Given the description of an element on the screen output the (x, y) to click on. 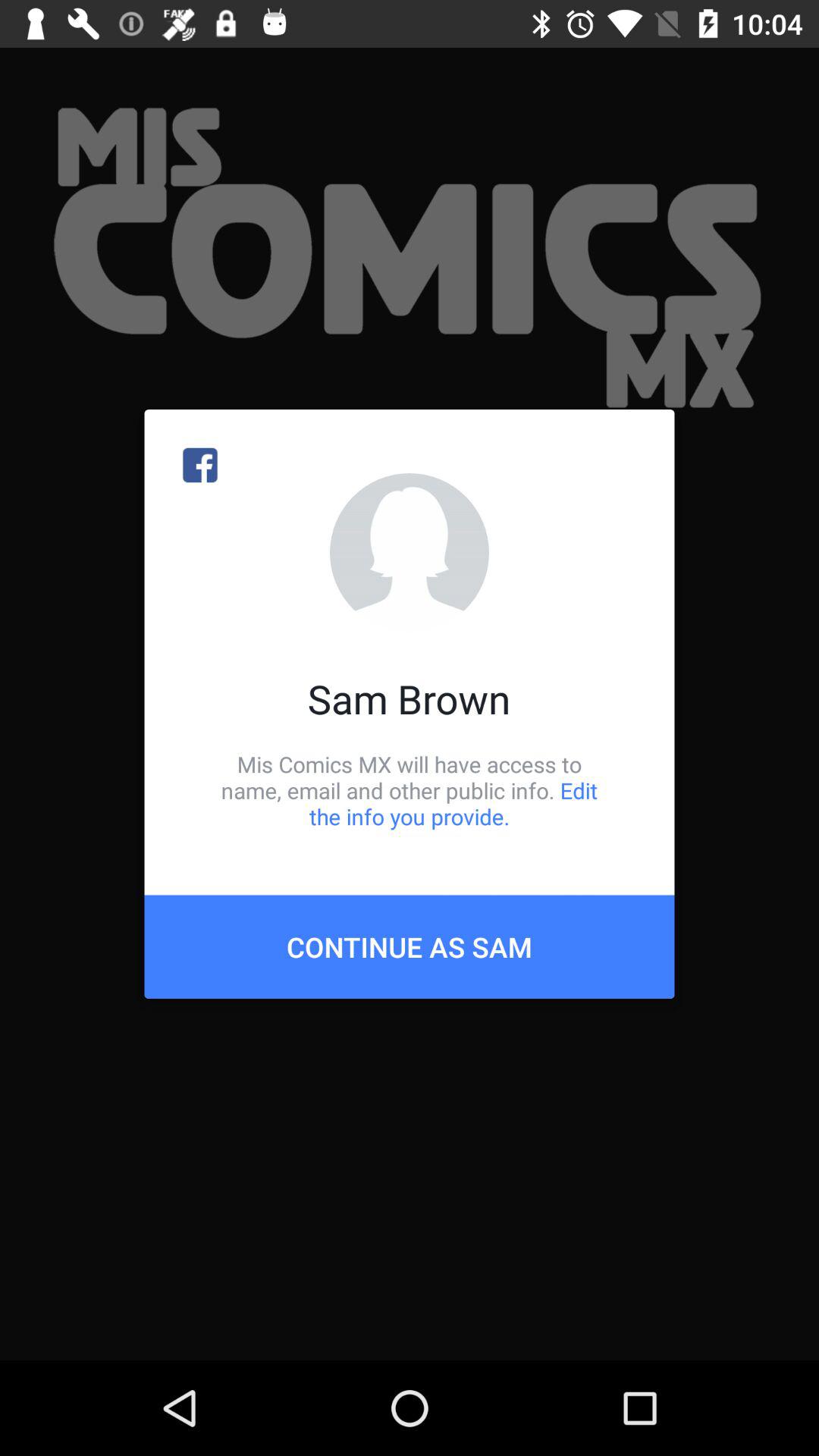
tap mis comics mx item (409, 790)
